Given the description of an element on the screen output the (x, y) to click on. 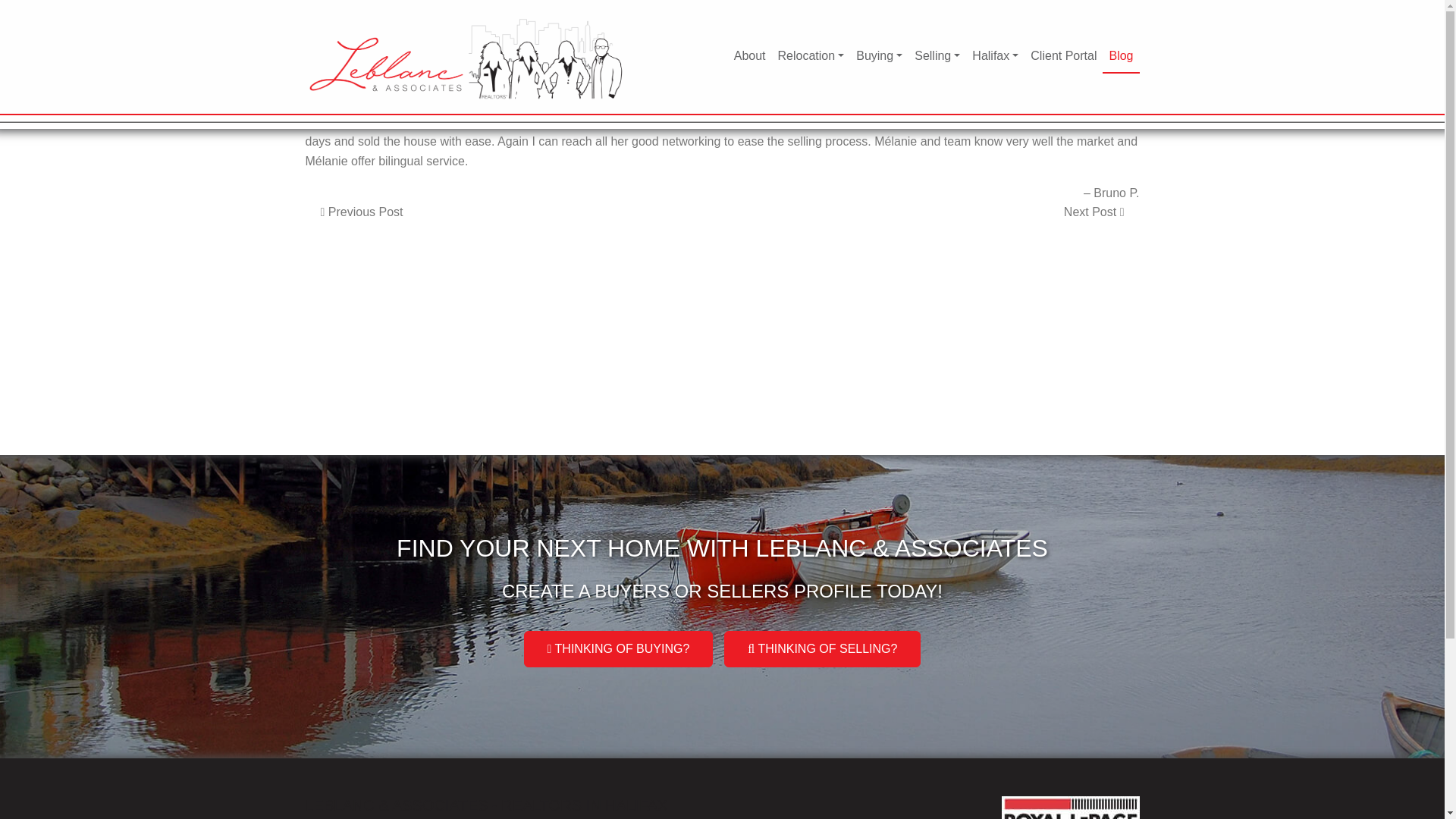
THINKING OF SELLING? (821, 648)
THINKING OF BUYING? (618, 648)
Selling (937, 56)
Buying (879, 56)
Buying (879, 56)
Relocation (810, 56)
Halifax (995, 56)
Next Post (1094, 211)
Selling (937, 56)
About (749, 56)
Blog (1120, 56)
Relocation (810, 56)
Client Portal (1063, 56)
Previous Post (361, 211)
About (749, 56)
